Given the description of an element on the screen output the (x, y) to click on. 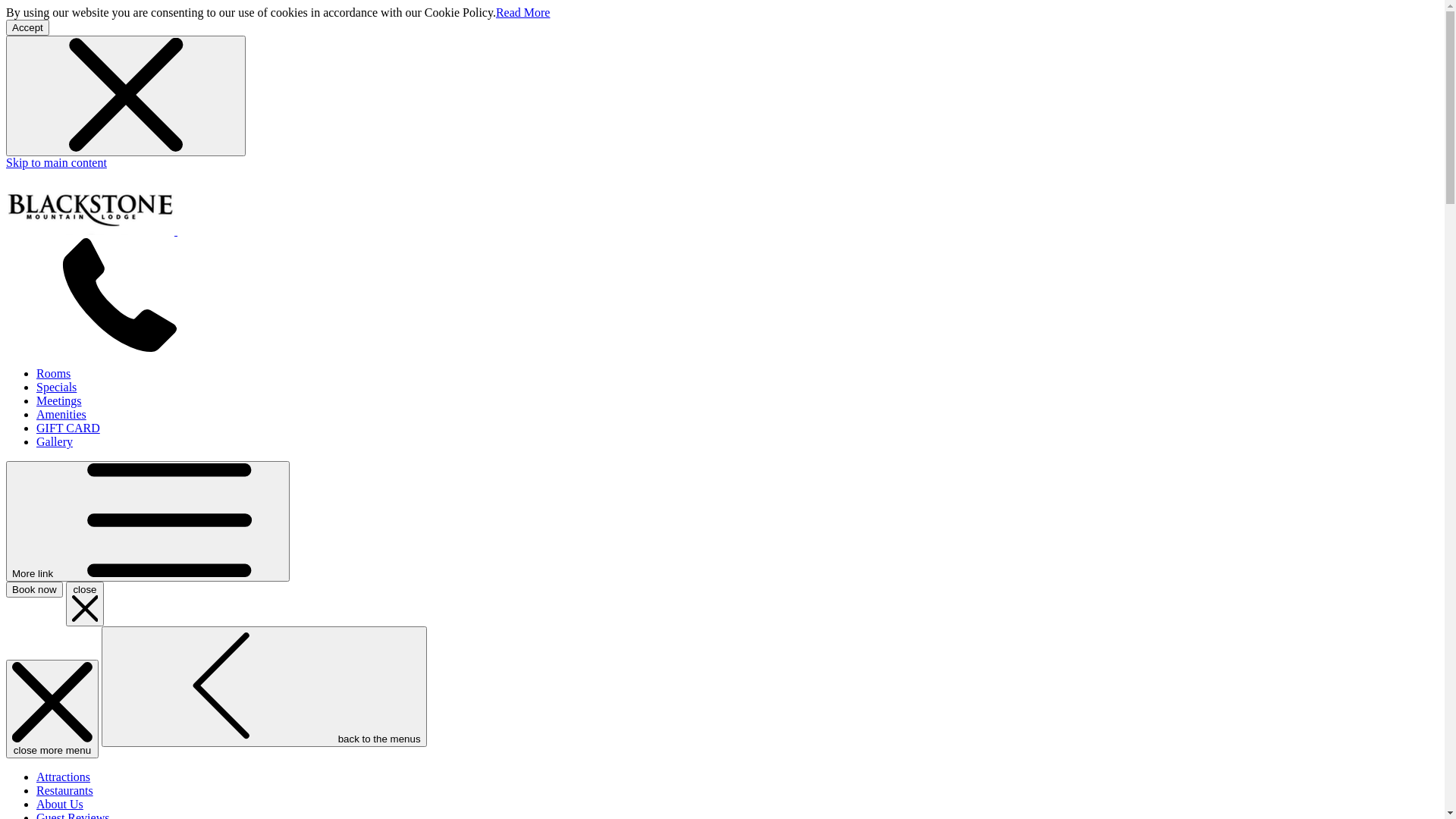
Restaurants Element type: text (64, 790)
Read More Element type: text (522, 12)
Amenities Element type: text (61, 413)
Skip to main content Element type: text (56, 162)
Accept Element type: text (27, 27)
Rooms Element type: text (53, 373)
Attractions Element type: text (63, 776)
back to the menus Element type: text (263, 686)
Book now Element type: text (34, 589)
close more menu Element type: text (52, 708)
close Element type: text (84, 603)
Meetings Element type: text (58, 400)
About Us Element type: text (59, 803)
Gallery Element type: text (54, 441)
Specials Element type: text (56, 386)
Back to the homepage Element type: hover (194, 230)
GIFT CARD Element type: text (68, 427)
More link Menu Element type: text (147, 521)
